Given the description of an element on the screen output the (x, y) to click on. 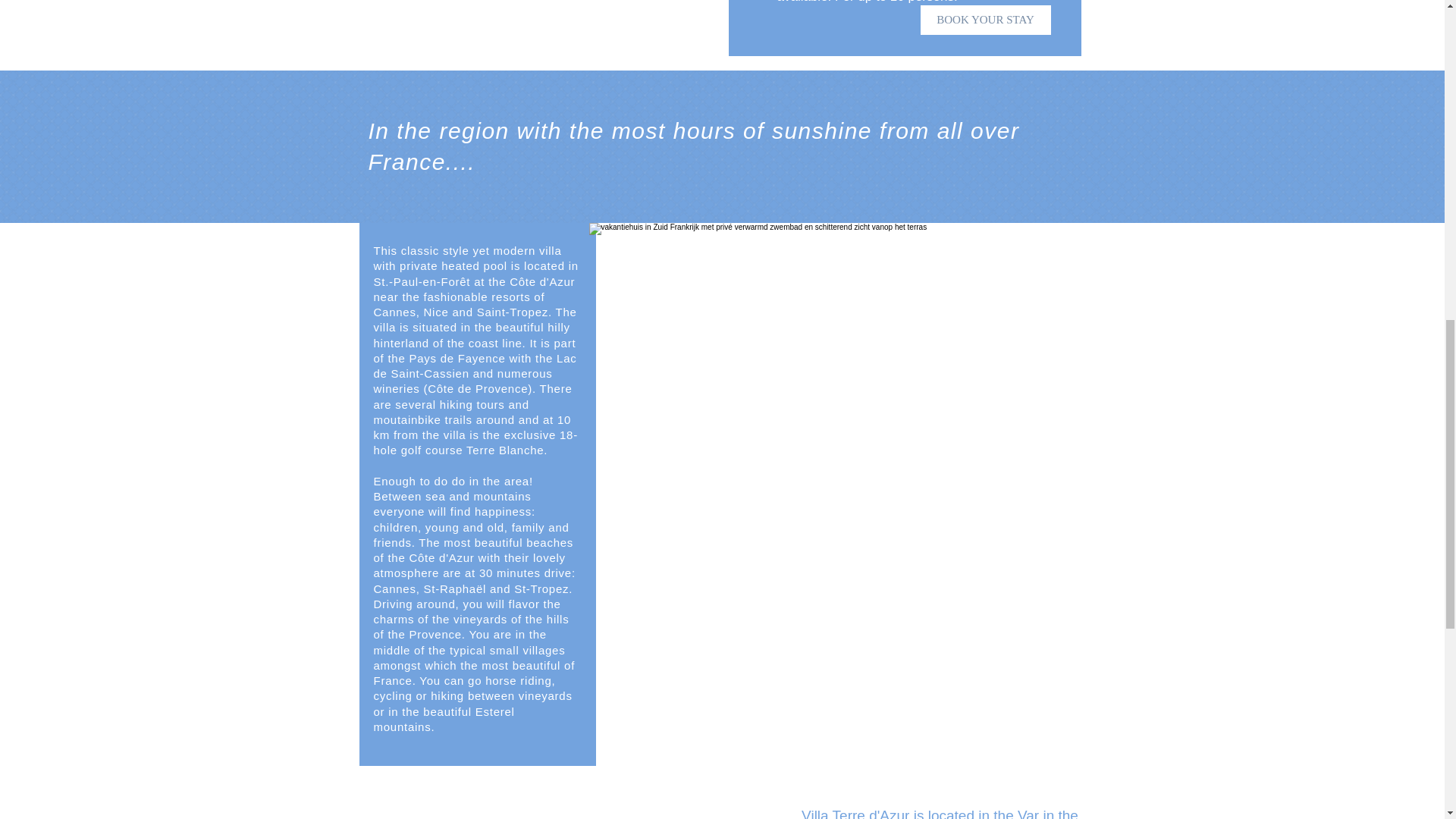
BOOK YOUR STAY (985, 19)
